Given the description of an element on the screen output the (x, y) to click on. 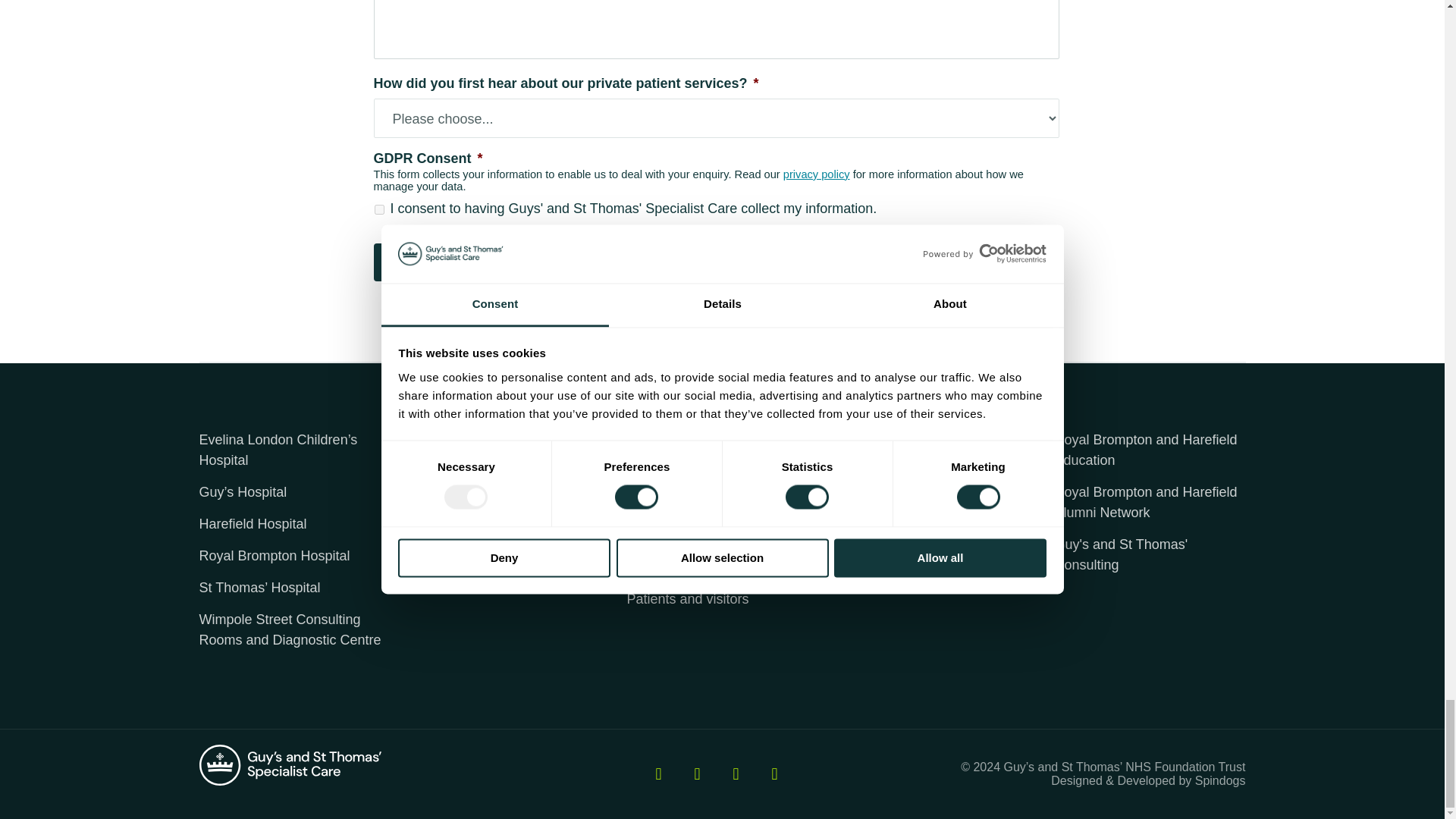
Submit (416, 262)
